Given the description of an element on the screen output the (x, y) to click on. 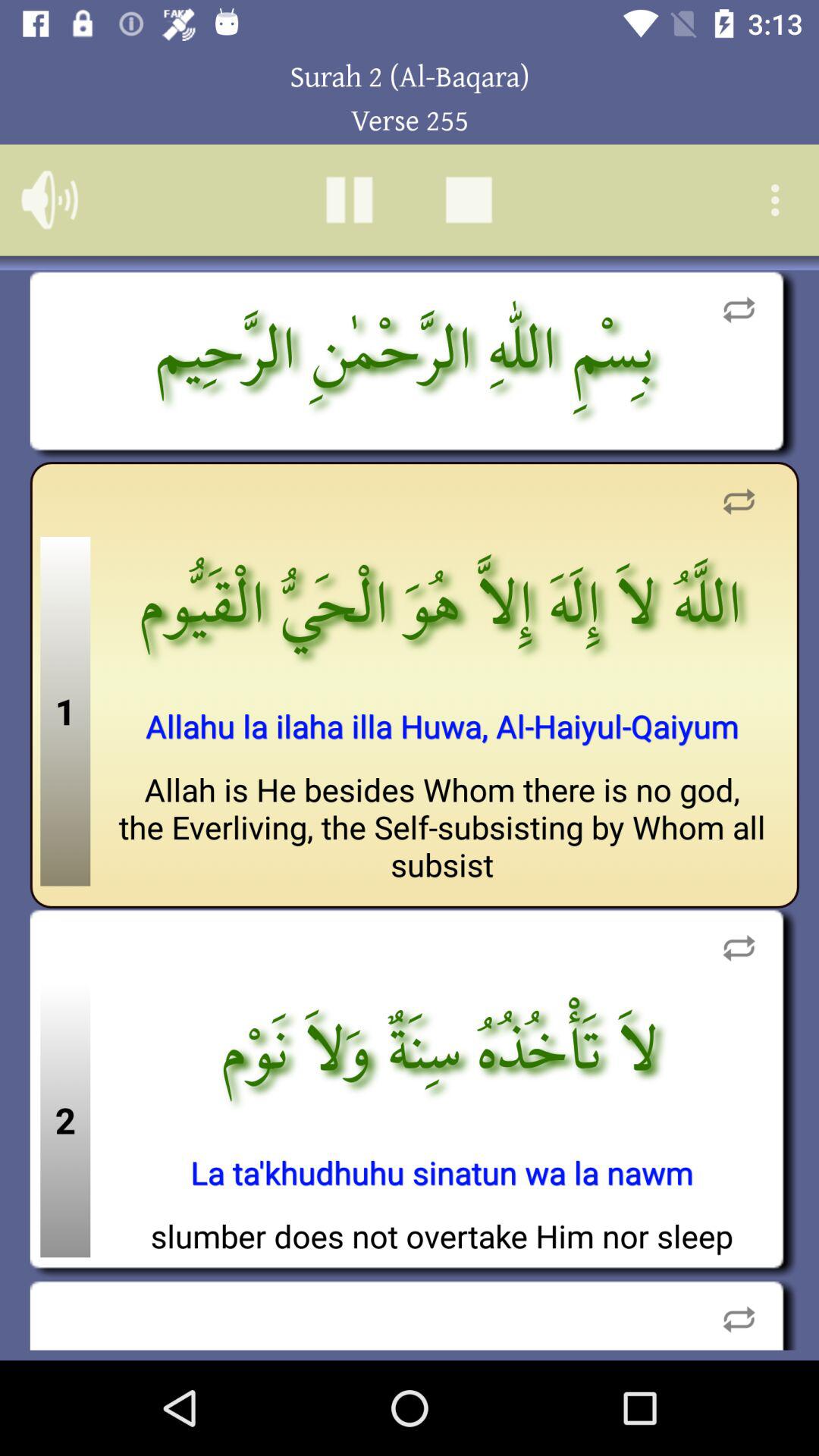
replay clip (738, 309)
